Given the description of an element on the screen output the (x, y) to click on. 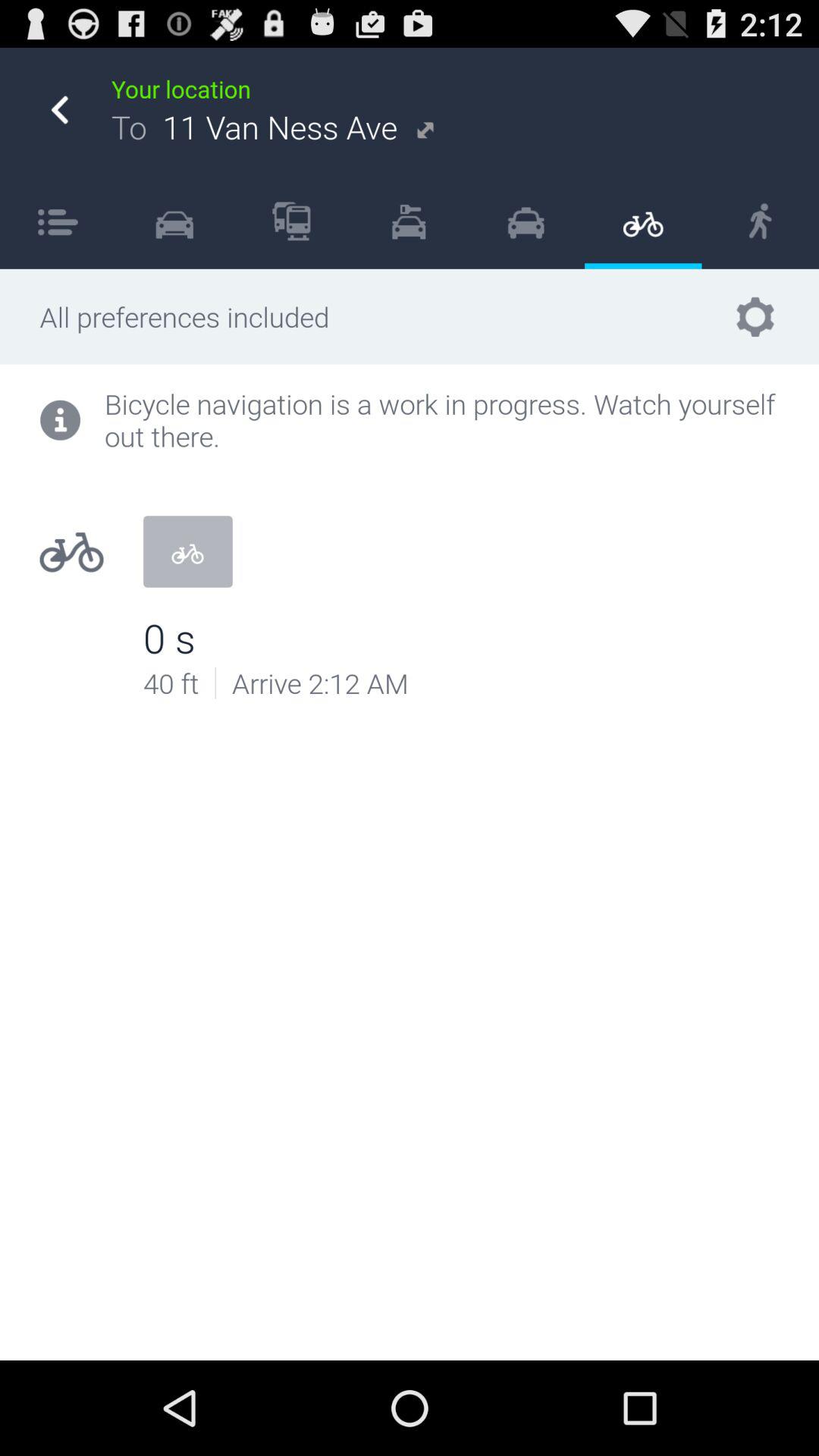
select the icon below bicycle navigation is icon (187, 551)
